Given the description of an element on the screen output the (x, y) to click on. 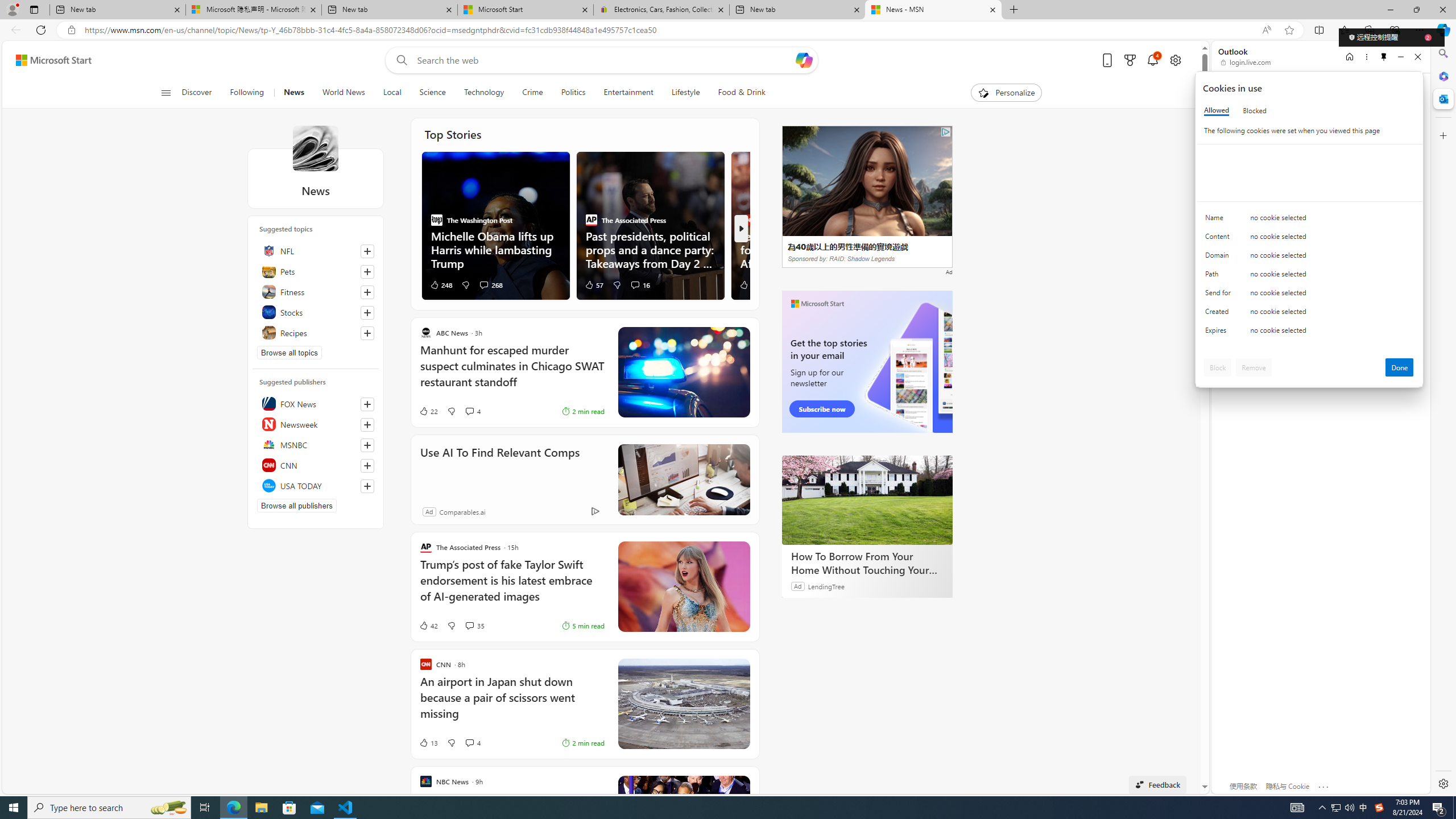
View comments 35 Comment (474, 625)
FOX News (315, 403)
Comparables.ai (462, 511)
22 Like (427, 410)
